Given the description of an element on the screen output the (x, y) to click on. 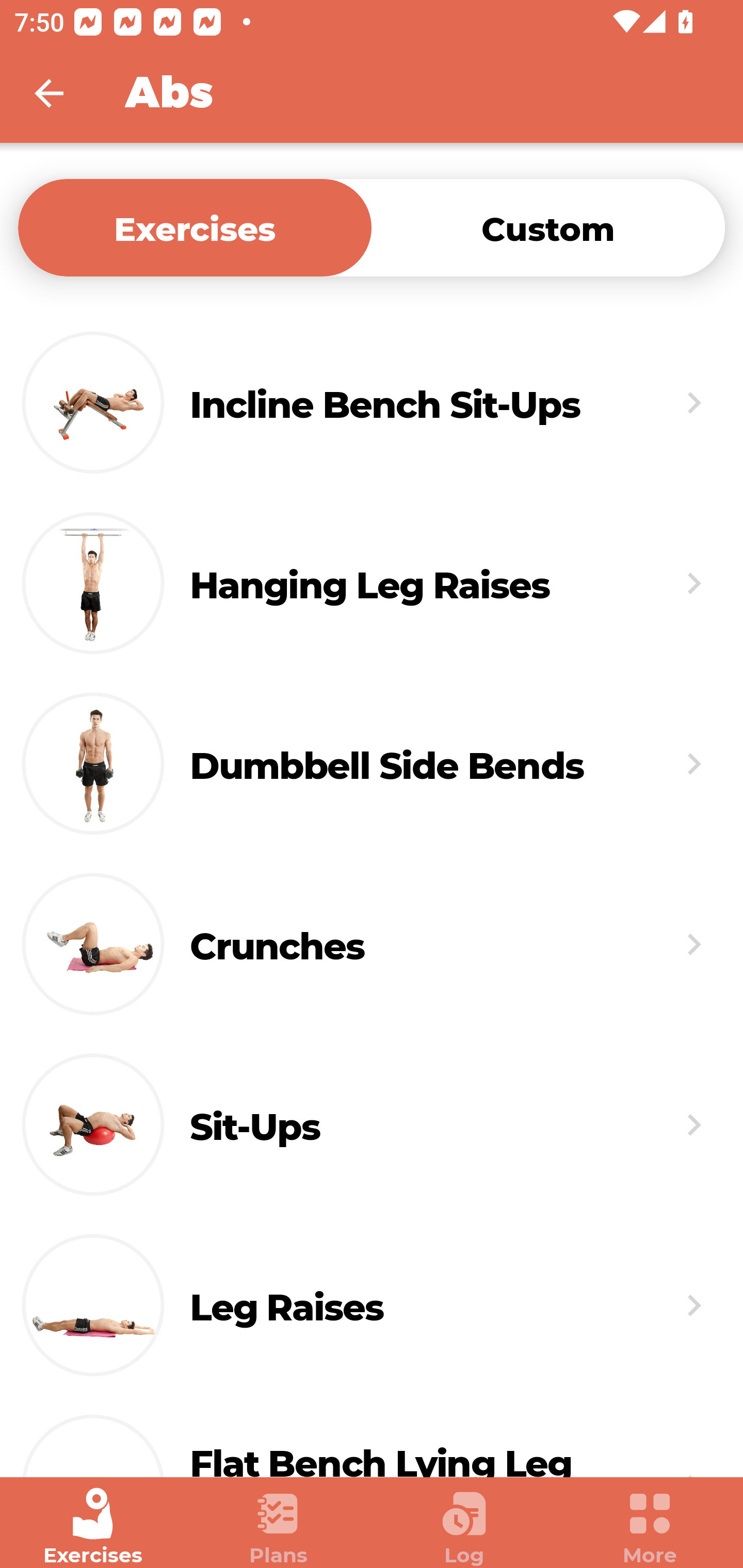
Back (62, 92)
Exercises (194, 226)
Custom (548, 226)
Exercises (92, 1527)
Plans (278, 1527)
Log (464, 1527)
More (650, 1527)
